Given the description of an element on the screen output the (x, y) to click on. 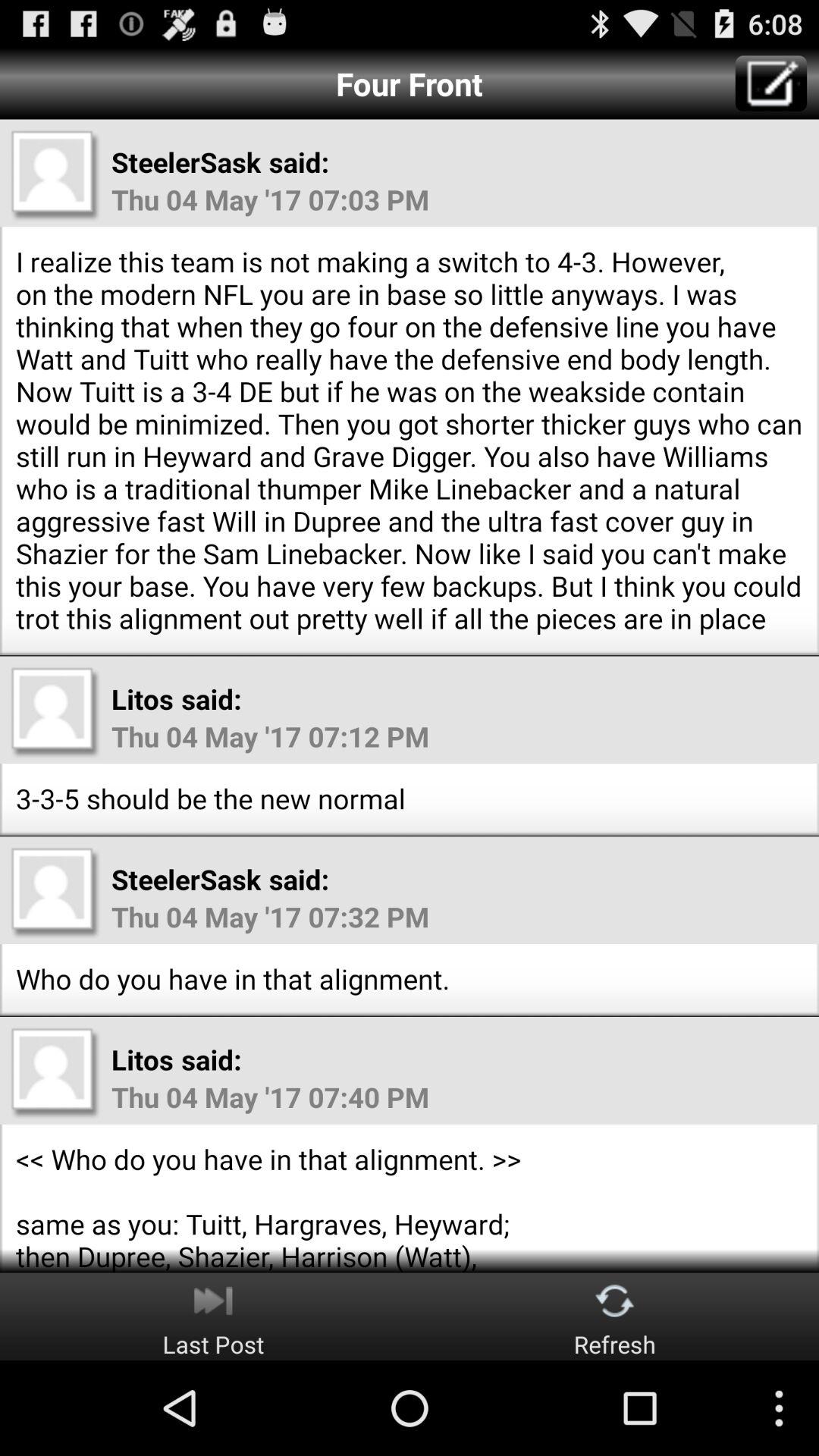
open refresh button (615, 1316)
